Given the description of an element on the screen output the (x, y) to click on. 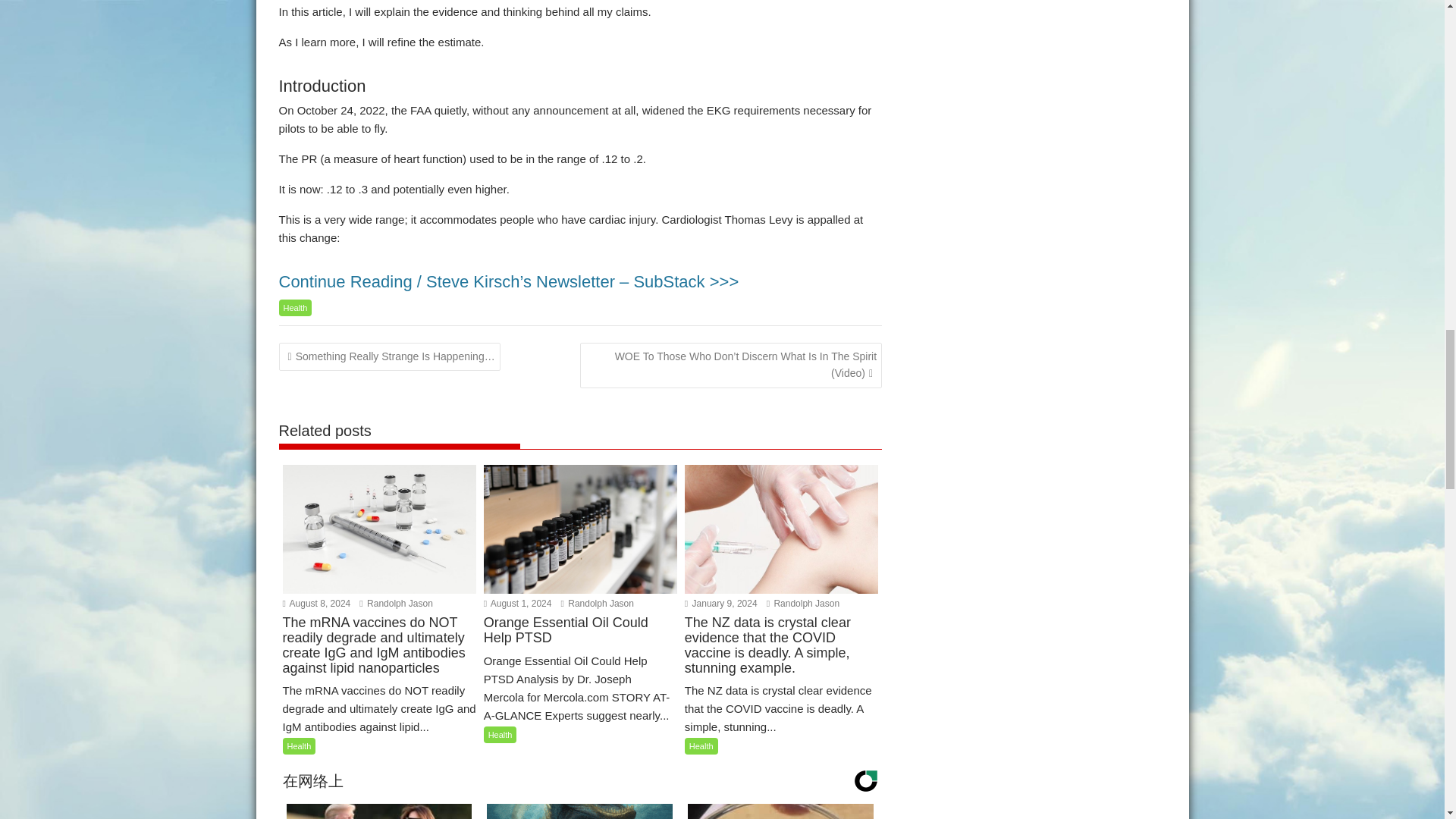
Randolph Jason (596, 603)
Randolph Jason (395, 603)
Randolph Jason (803, 603)
